Given the description of an element on the screen output the (x, y) to click on. 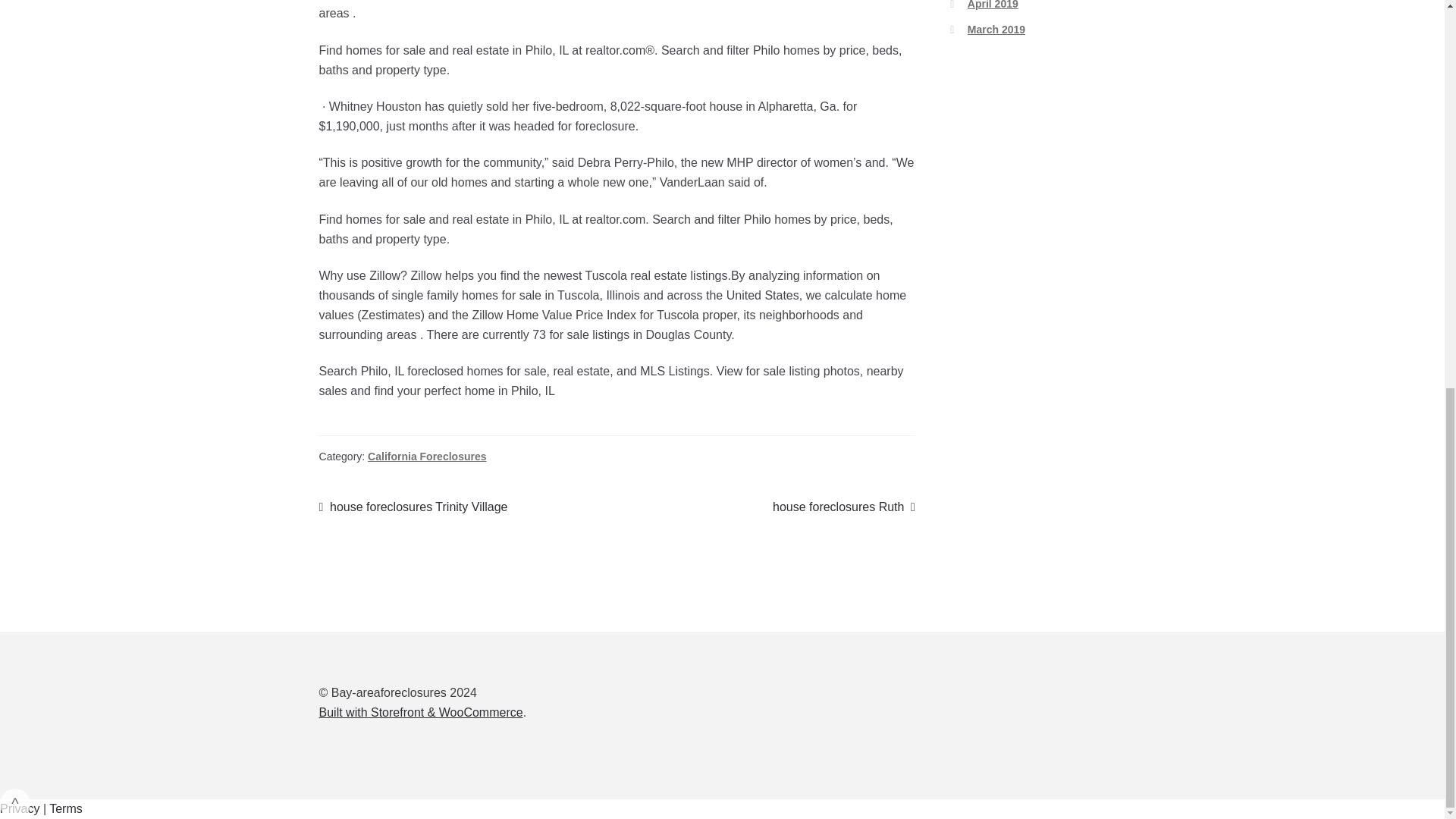
Privacy (19, 808)
California Foreclosures (427, 456)
April 2019 (992, 4)
WooCommerce - The Best eCommerce Platform for WordPress (420, 712)
Terms (844, 506)
March 2019 (65, 808)
